Given the description of an element on the screen output the (x, y) to click on. 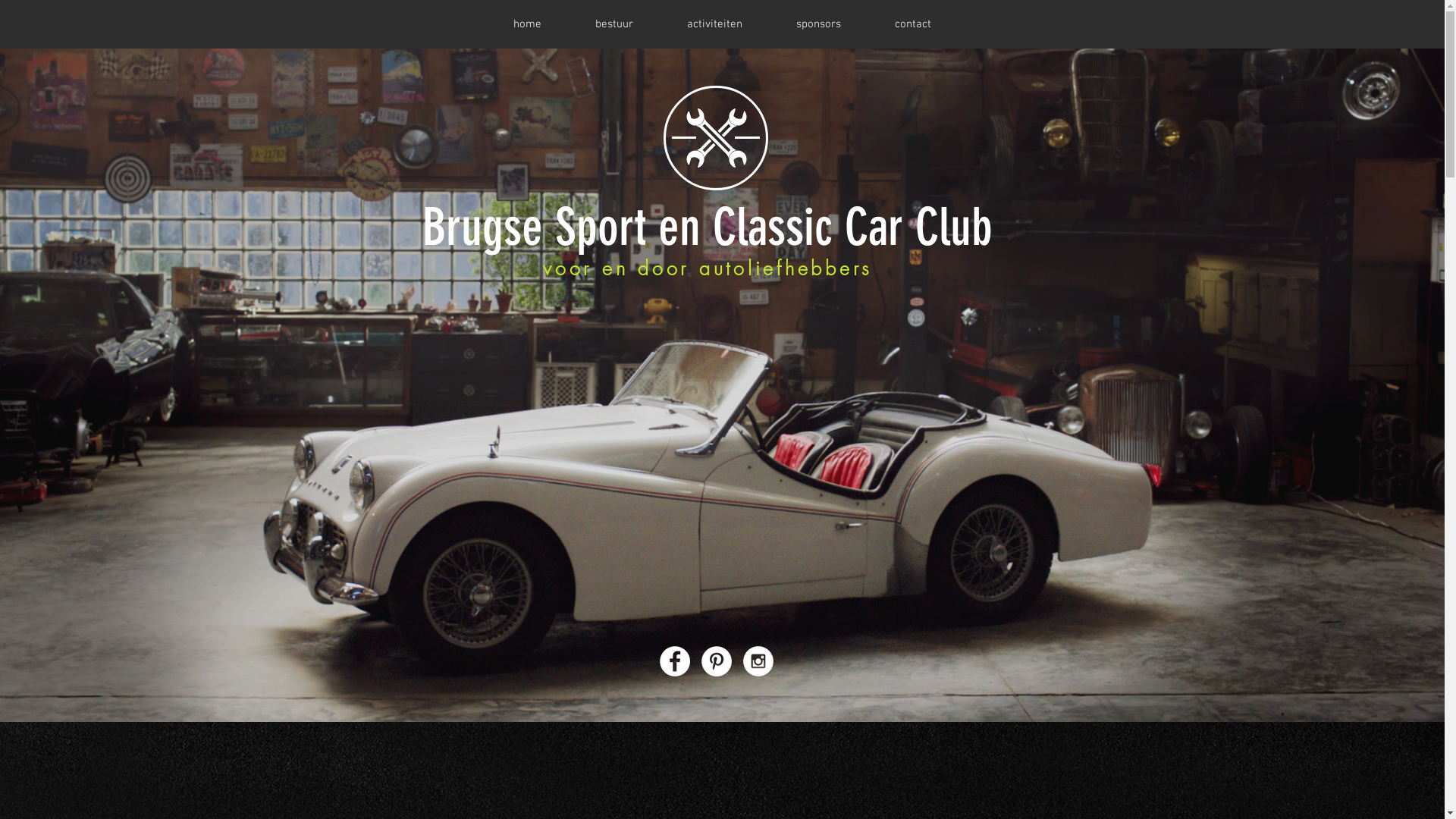
bestuur Element type: text (614, 24)
Brugse Element type: text (482, 226)
home Element type: text (527, 24)
contact Element type: text (912, 24)
sponsors Element type: text (817, 24)
activiteiten Element type: text (713, 24)
